Given the description of an element on the screen output the (x, y) to click on. 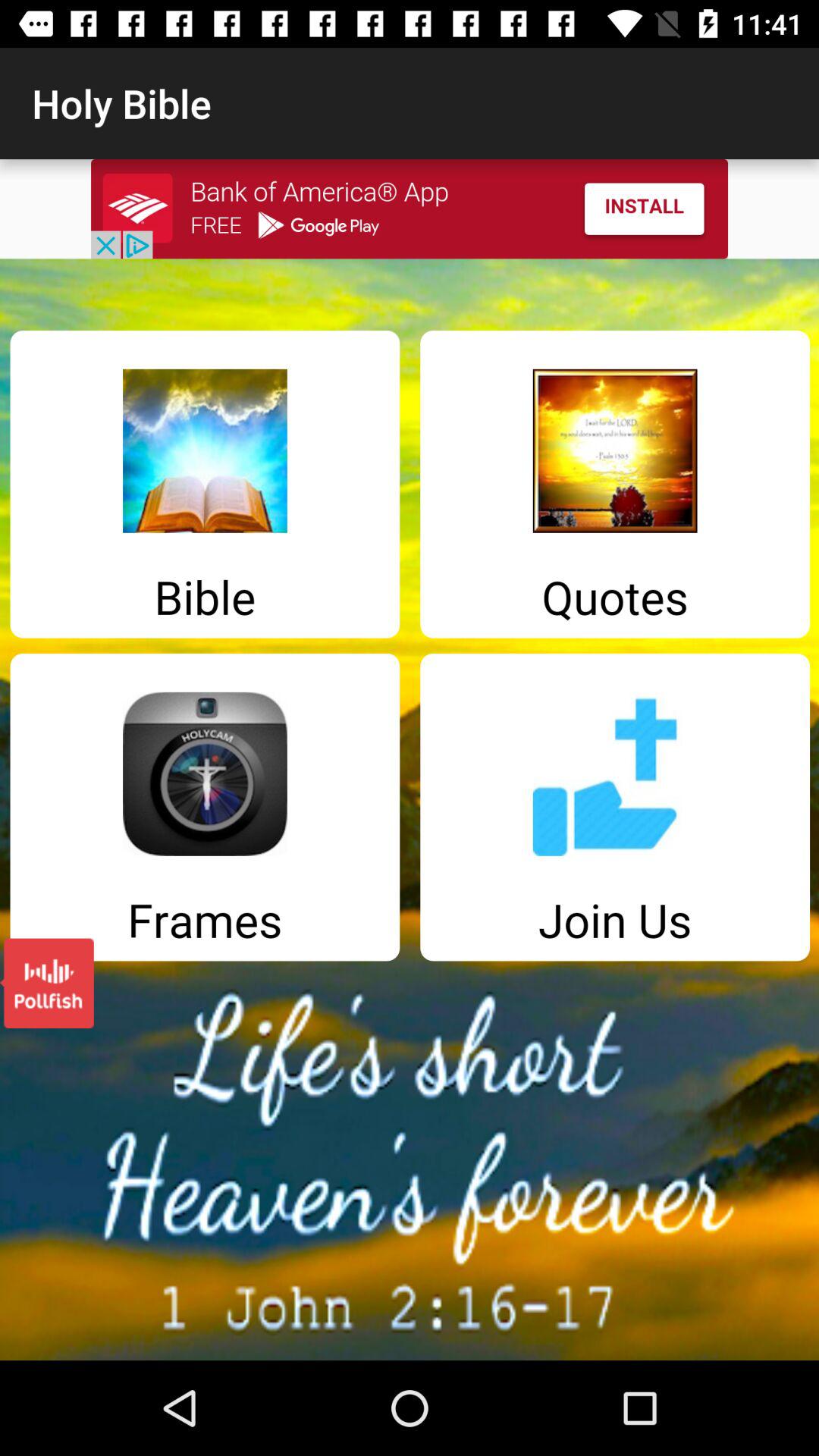
install bank of america app (409, 208)
